Given the description of an element on the screen output the (x, y) to click on. 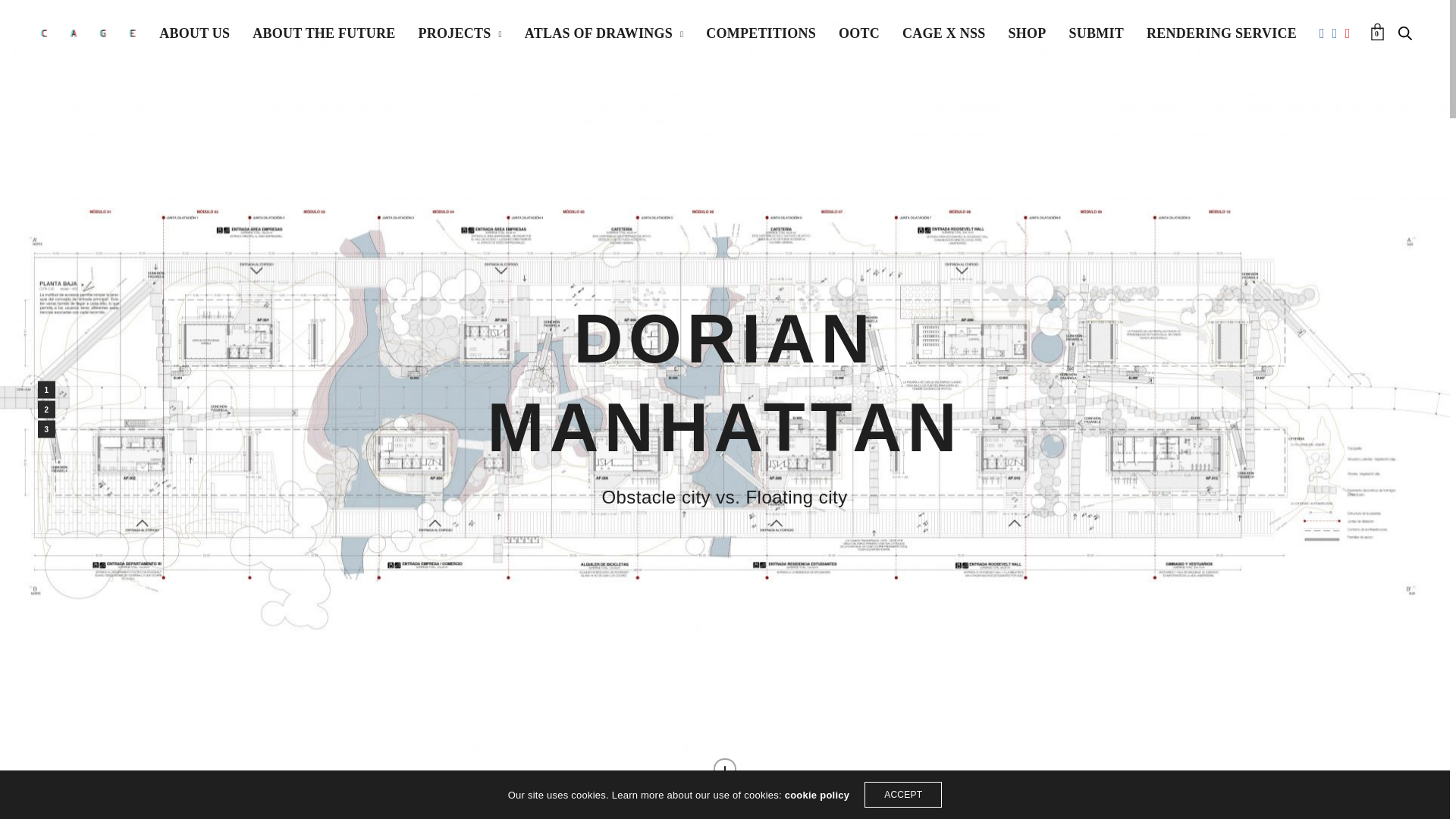
ABOUT THE FUTURE (322, 33)
C A G E Architecture (87, 33)
PROJECTS (460, 33)
View your Shopping Cart (1377, 31)
ABOUT US (194, 33)
Search (1404, 33)
